Given the description of an element on the screen output the (x, y) to click on. 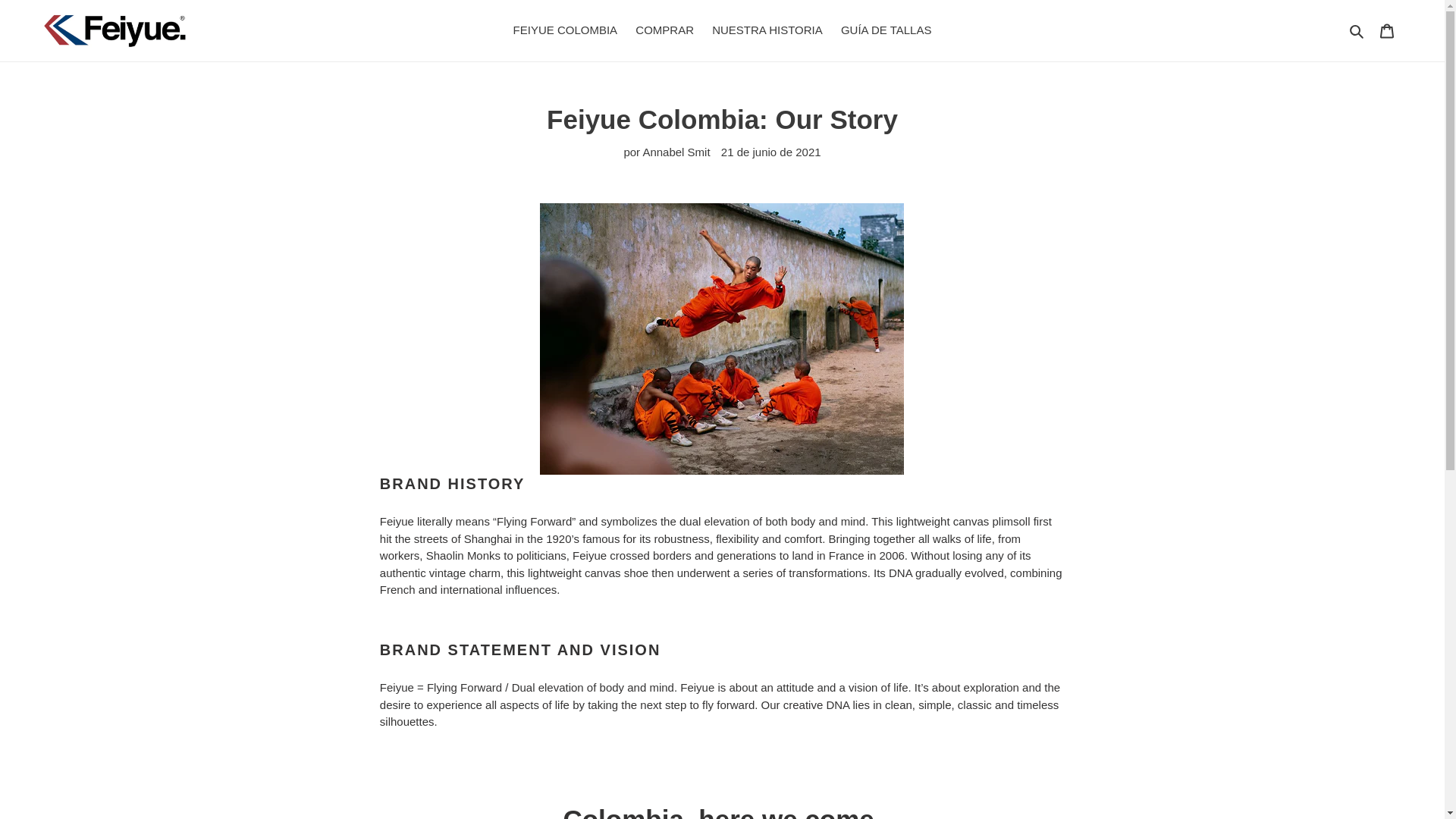
FEIYUE COLOMBIA (565, 30)
Buscar (1357, 30)
NUESTRA HISTORIA (766, 30)
Carrito (1387, 30)
COMPRAR (664, 30)
